Given the description of an element on the screen output the (x, y) to click on. 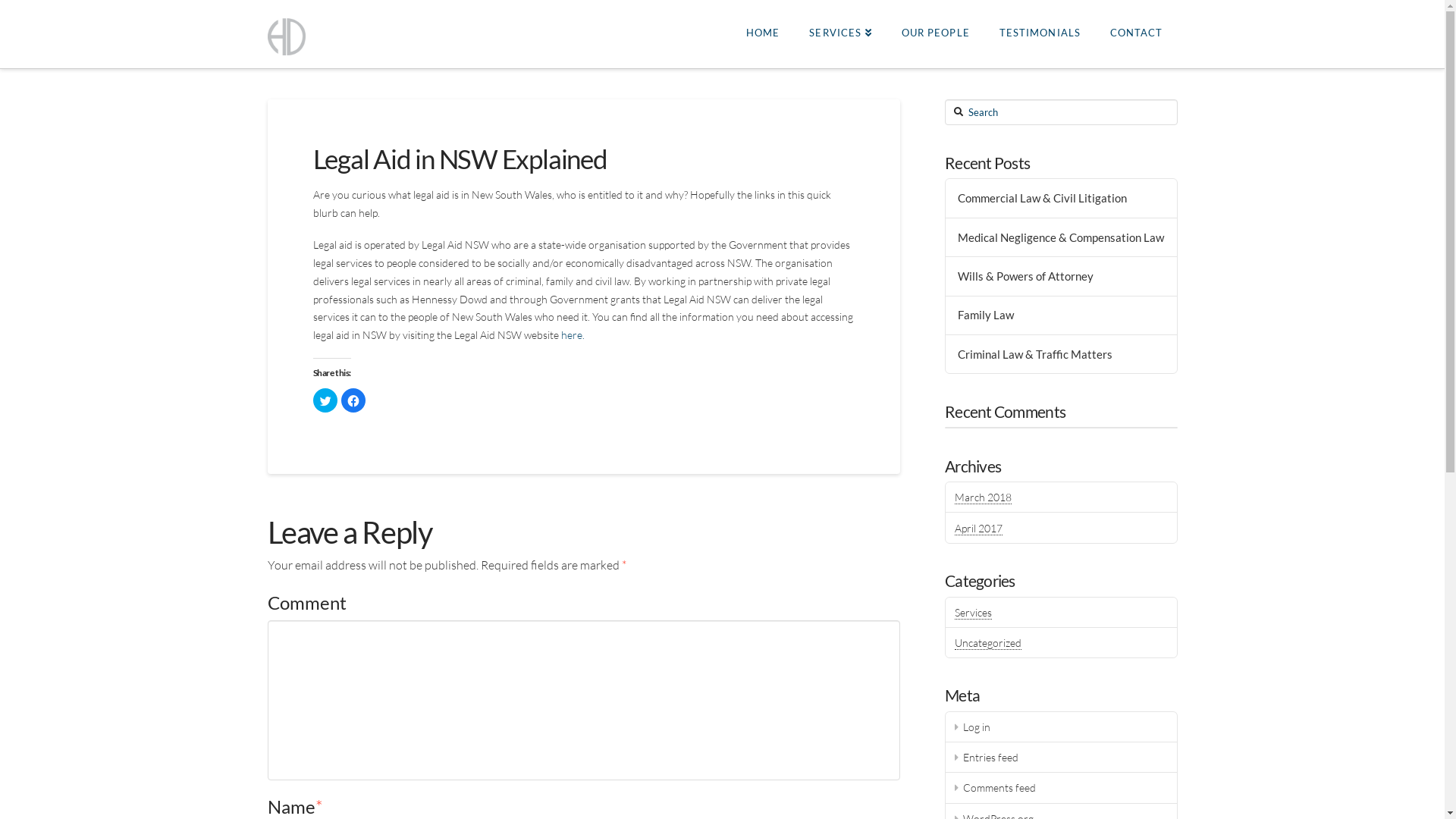
March 2018 Element type: text (982, 497)
Uncategorized Element type: text (987, 642)
Medical Negligence & Compensation Law Element type: text (1060, 237)
Criminal Law & Traffic Matters Element type: text (1060, 354)
SERVICES Element type: text (839, 34)
Wills & Powers of Attorney Element type: text (1060, 276)
CONTACT Element type: text (1136, 34)
Comments feed Element type: text (1060, 787)
HOME Element type: text (762, 34)
OUR PEOPLE Element type: text (935, 34)
Click to share on Facebook (Opens in new window) Element type: text (353, 400)
Services Element type: text (972, 612)
Family Law Element type: text (1060, 314)
TESTIMONIALS Element type: text (1039, 34)
April 2017 Element type: text (978, 528)
Commercial Law & Civil Litigation Element type: text (1060, 198)
Log in Element type: text (1060, 727)
here. Element type: text (572, 334)
Click to share on Twitter (Opens in new window) Element type: text (324, 400)
Entries feed Element type: text (1060, 757)
